Given the description of an element on the screen output the (x, y) to click on. 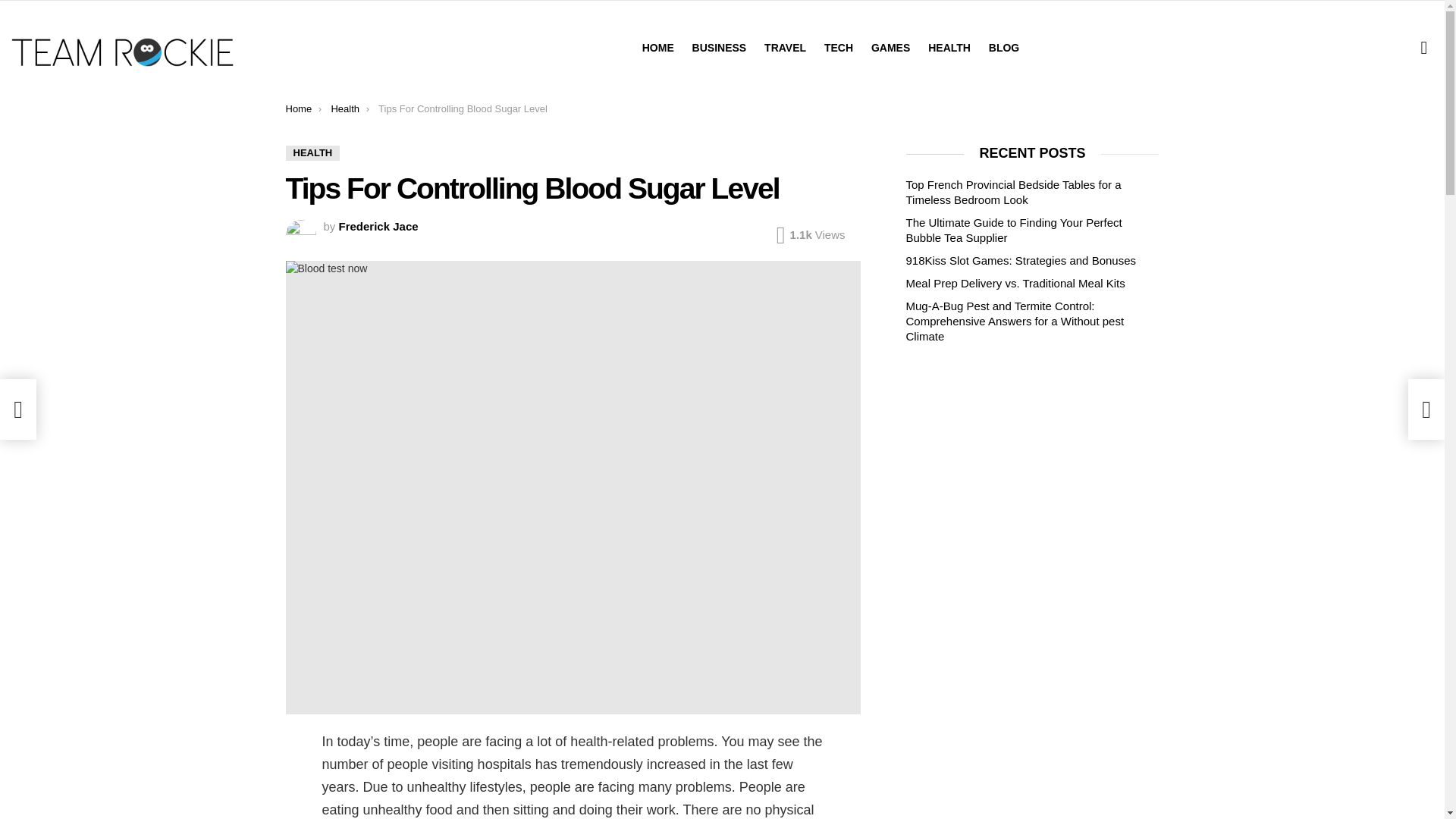
Home (298, 108)
TECH (838, 47)
HEALTH (312, 152)
BLOG (1003, 47)
GAMES (890, 47)
HEALTH (949, 47)
TRAVEL (785, 47)
Frederick Jace (379, 226)
HOME (657, 47)
Health (344, 108)
